Given the description of an element on the screen output the (x, y) to click on. 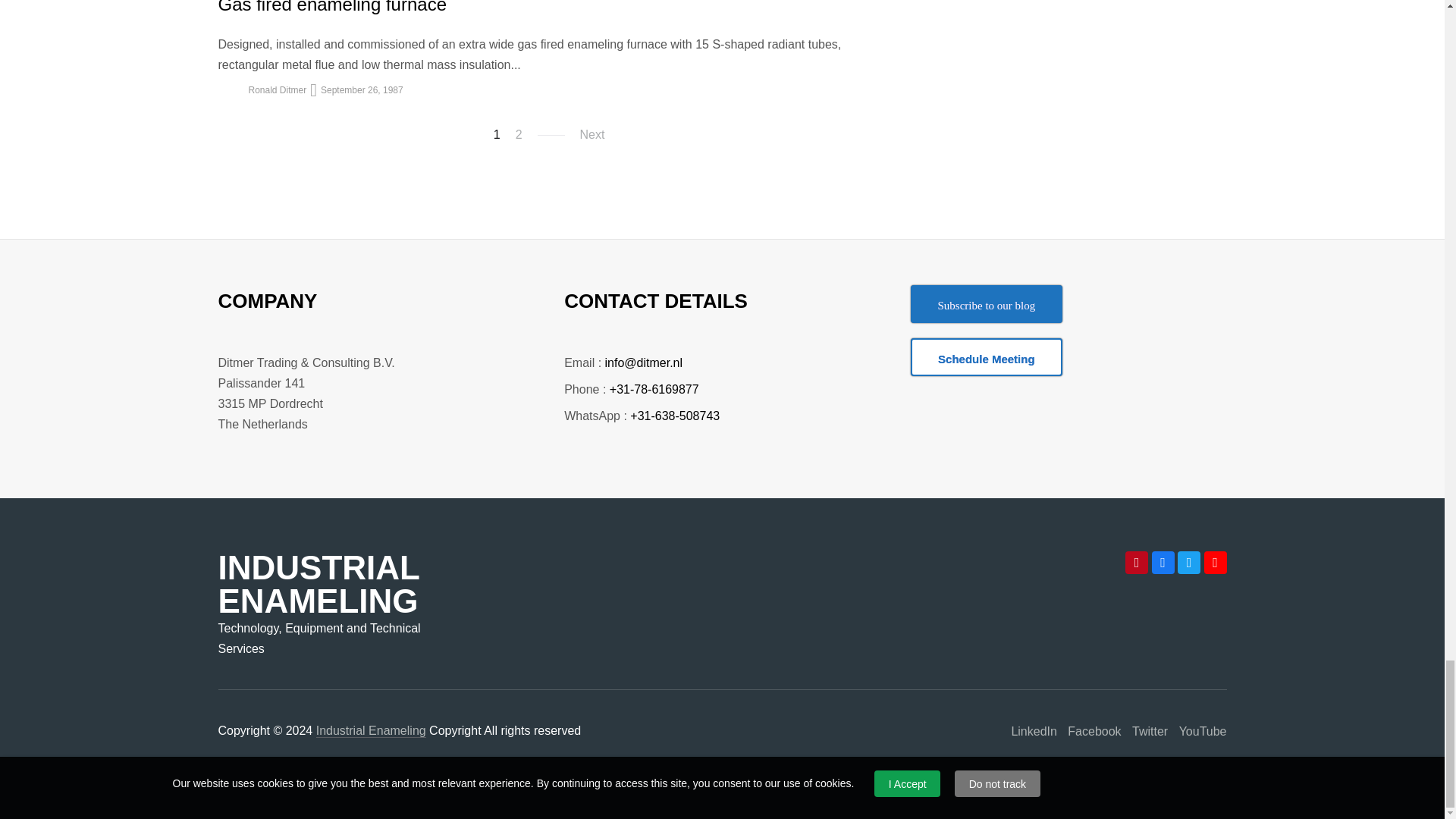
Industrial Enameling (370, 730)
Book a video meeting via Microsoft Teams (986, 356)
